Given the description of an element on the screen output the (x, y) to click on. 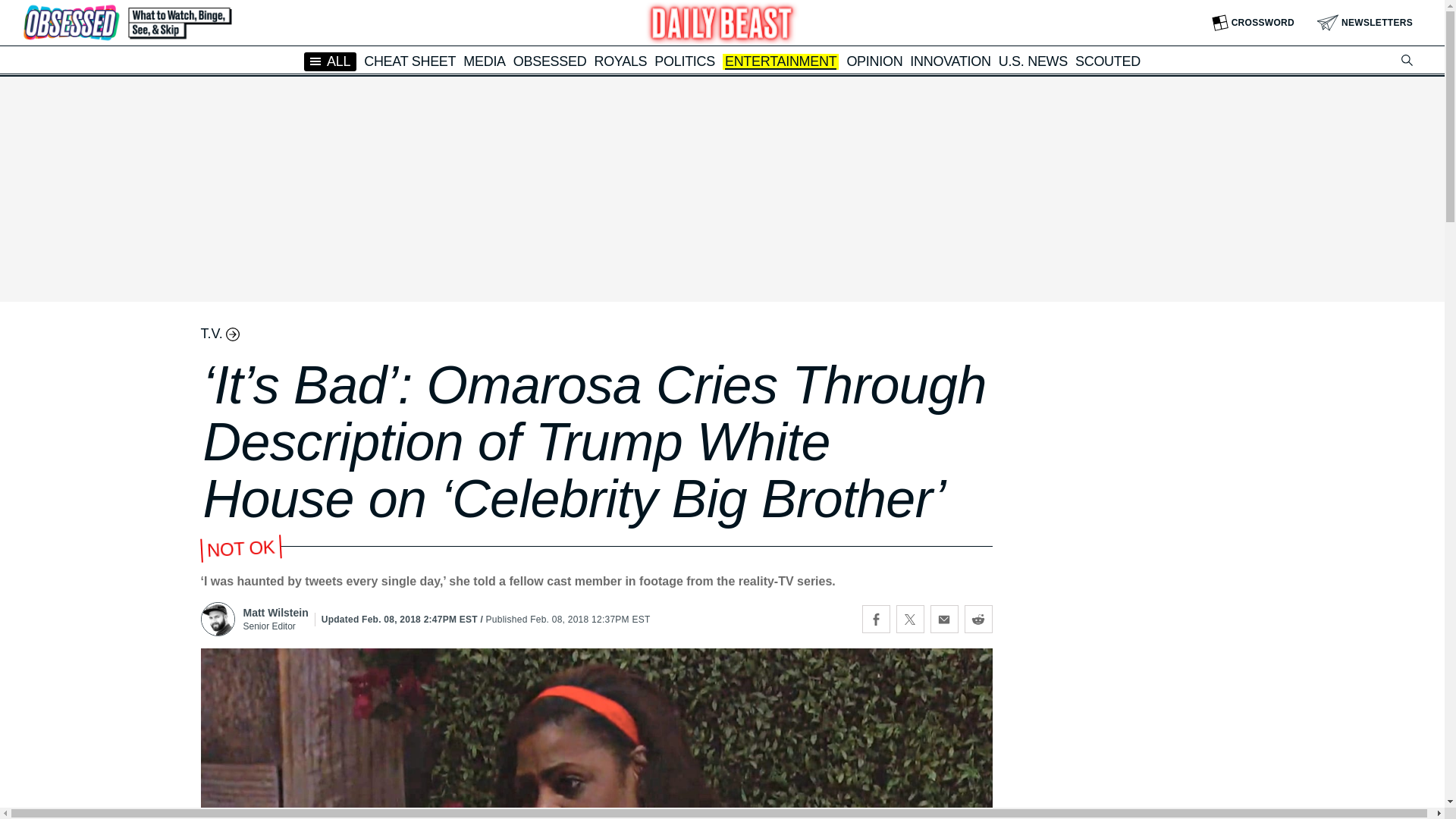
CHEAT SHEET (409, 60)
ROYALS (620, 60)
MEDIA (484, 60)
SCOUTED (1107, 60)
ENTERTAINMENT (780, 61)
U.S. NEWS (1032, 60)
ALL (330, 60)
NEWSLETTERS (1364, 22)
POLITICS (683, 60)
CROSSWORD (1252, 22)
